Given the description of an element on the screen output the (x, y) to click on. 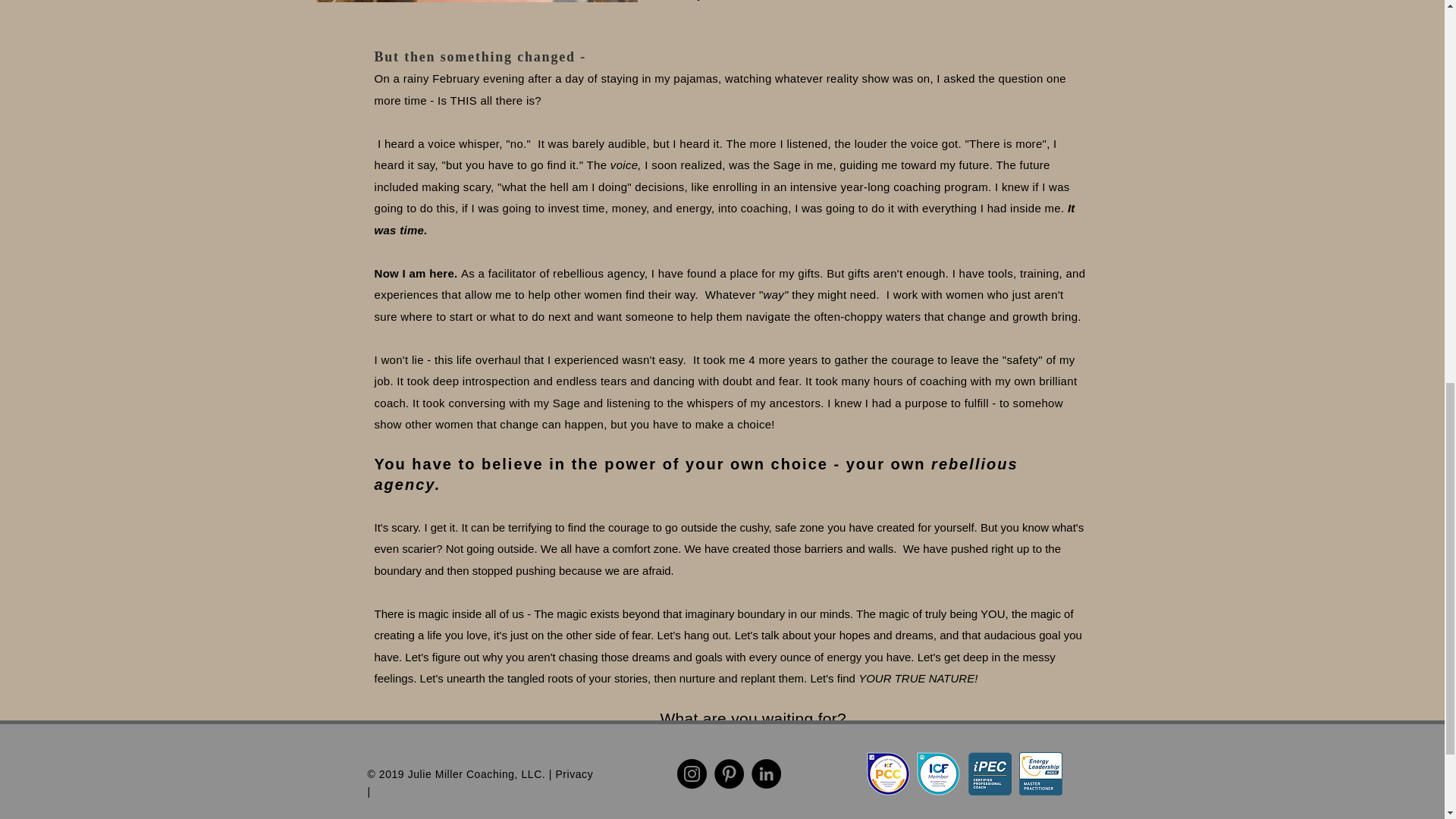
Book a 75-minute Connection Call (737, 781)
